Given the description of an element on the screen output the (x, y) to click on. 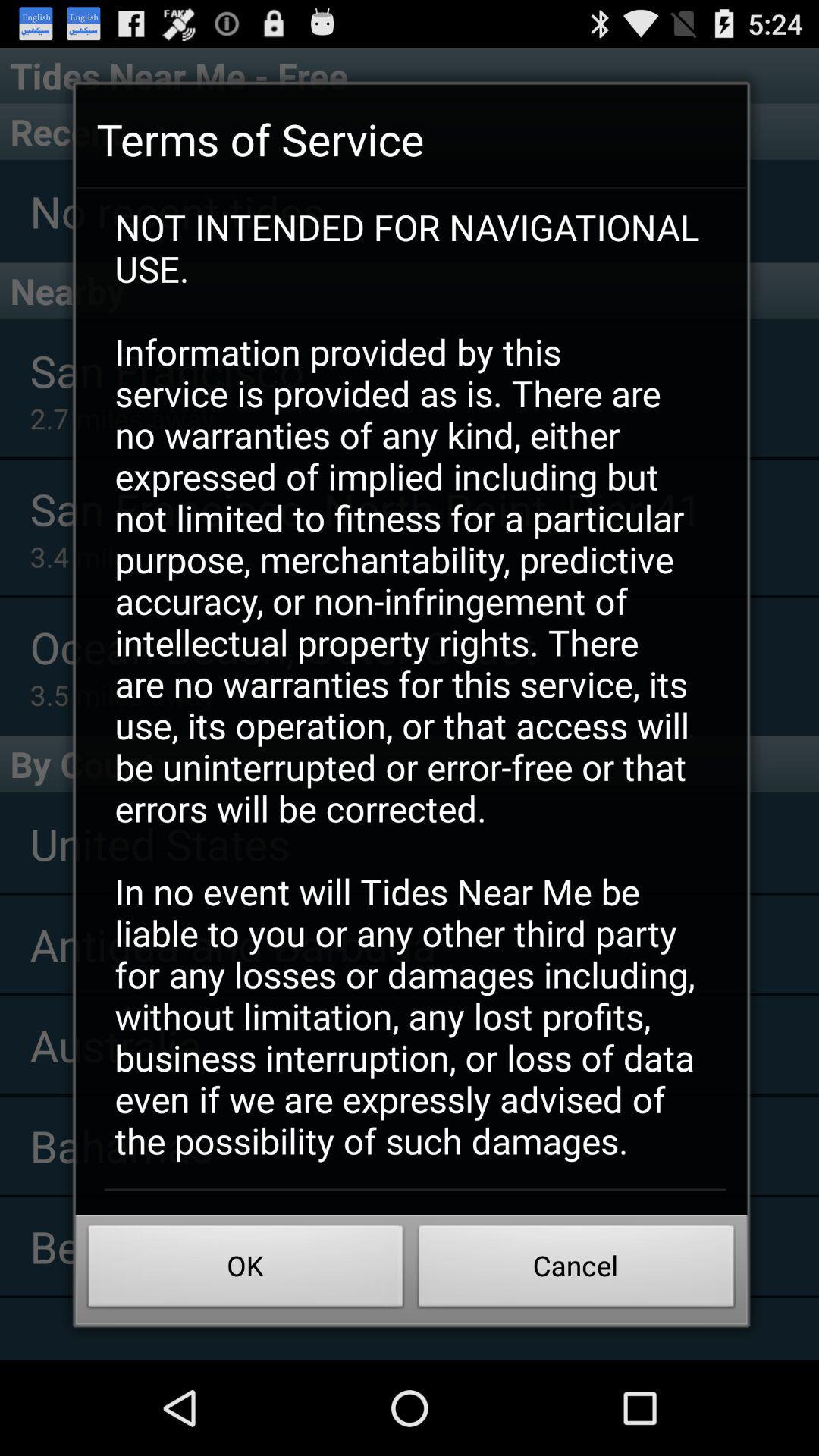
scroll to the cancel (576, 1270)
